Given the description of an element on the screen output the (x, y) to click on. 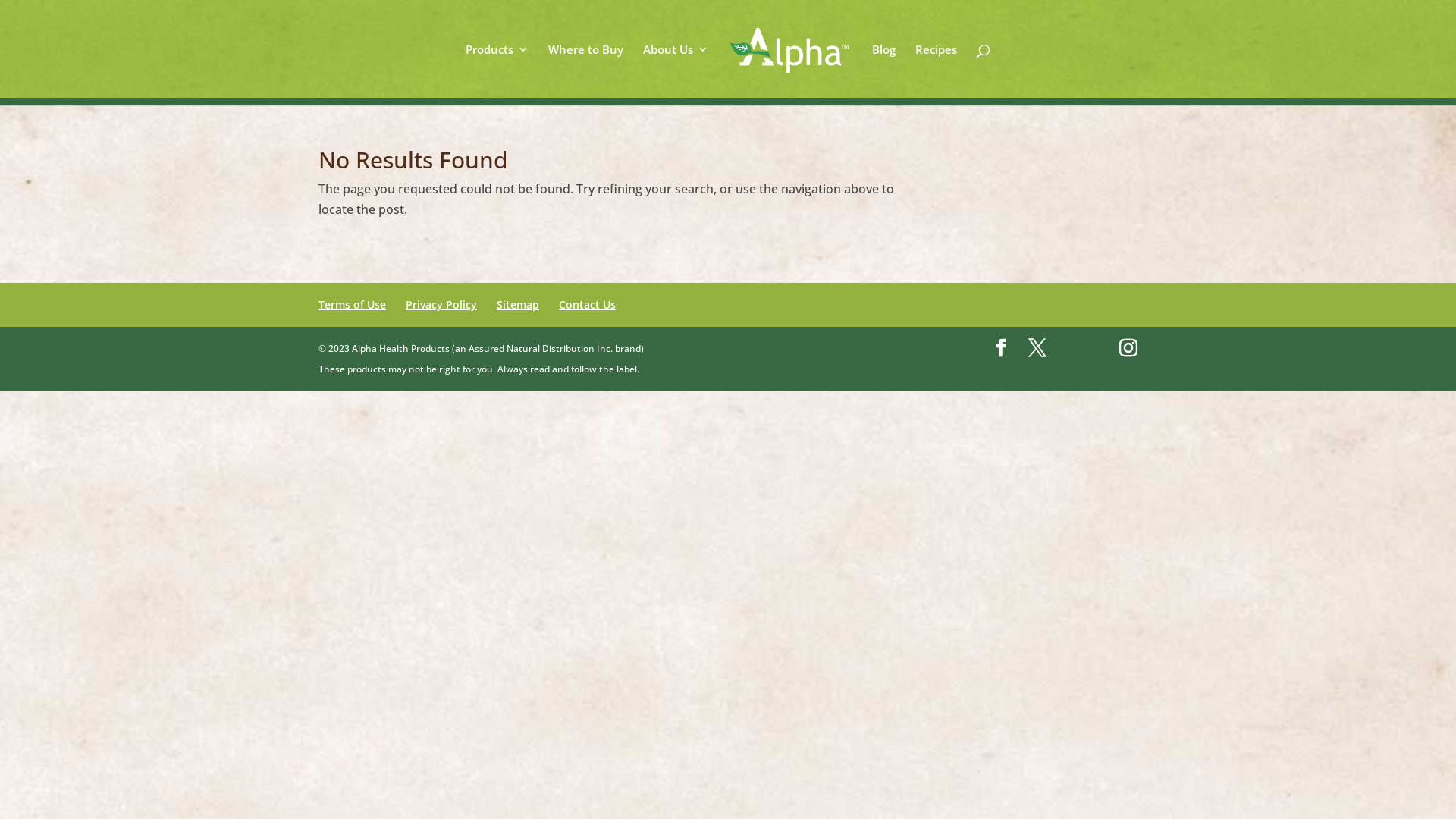
Terms of Use Element type: text (351, 304)
Privacy Policy Element type: text (440, 304)
About Us Element type: text (675, 70)
Where to Buy Element type: text (585, 70)
Blog Element type: text (883, 70)
Sitemap Element type: text (517, 304)
Recipes Element type: text (936, 70)
Contact Us Element type: text (586, 304)
Products Element type: text (496, 70)
